Given the description of an element on the screen output the (x, y) to click on. 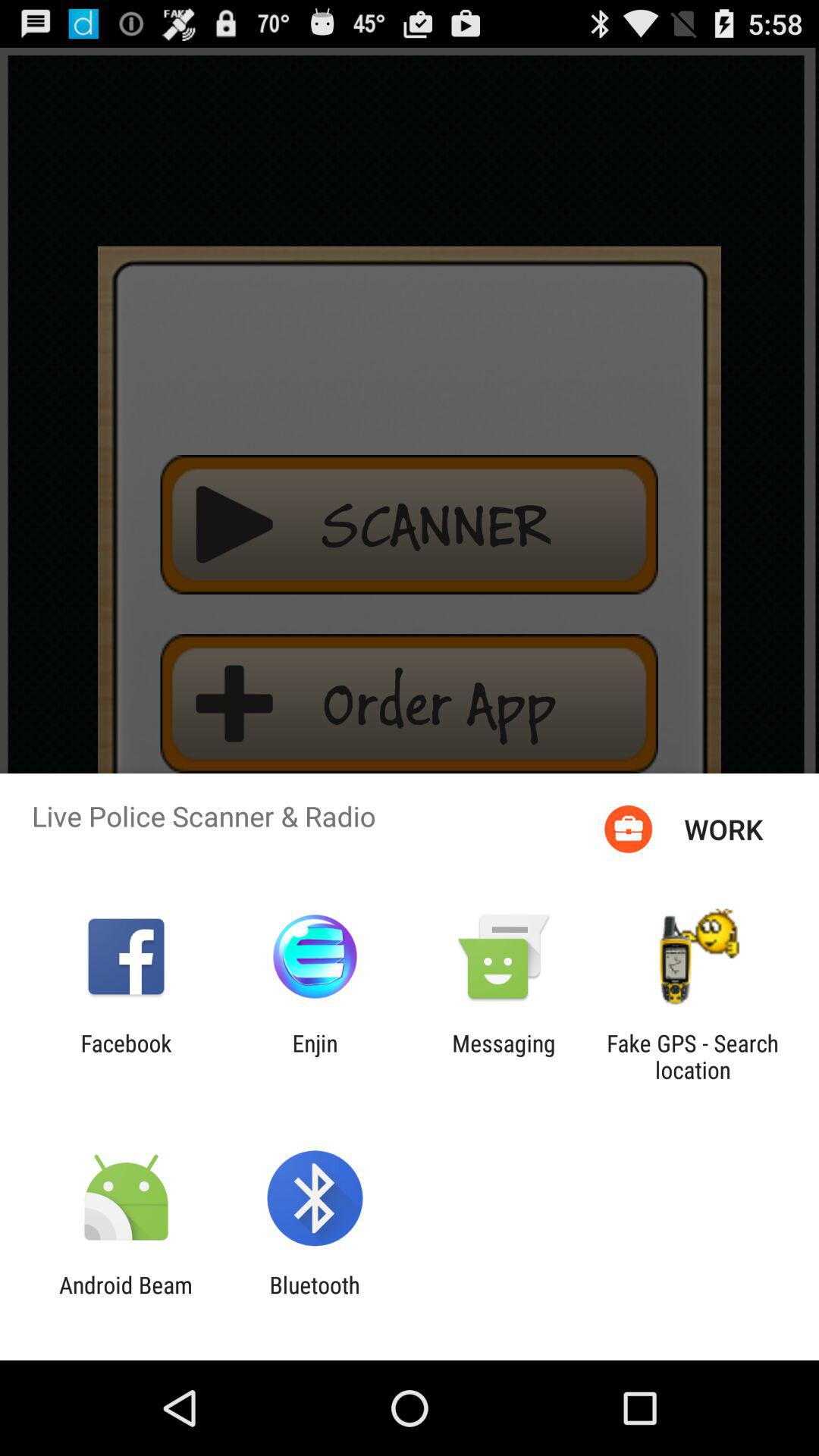
turn on messaging (503, 1056)
